Given the description of an element on the screen output the (x, y) to click on. 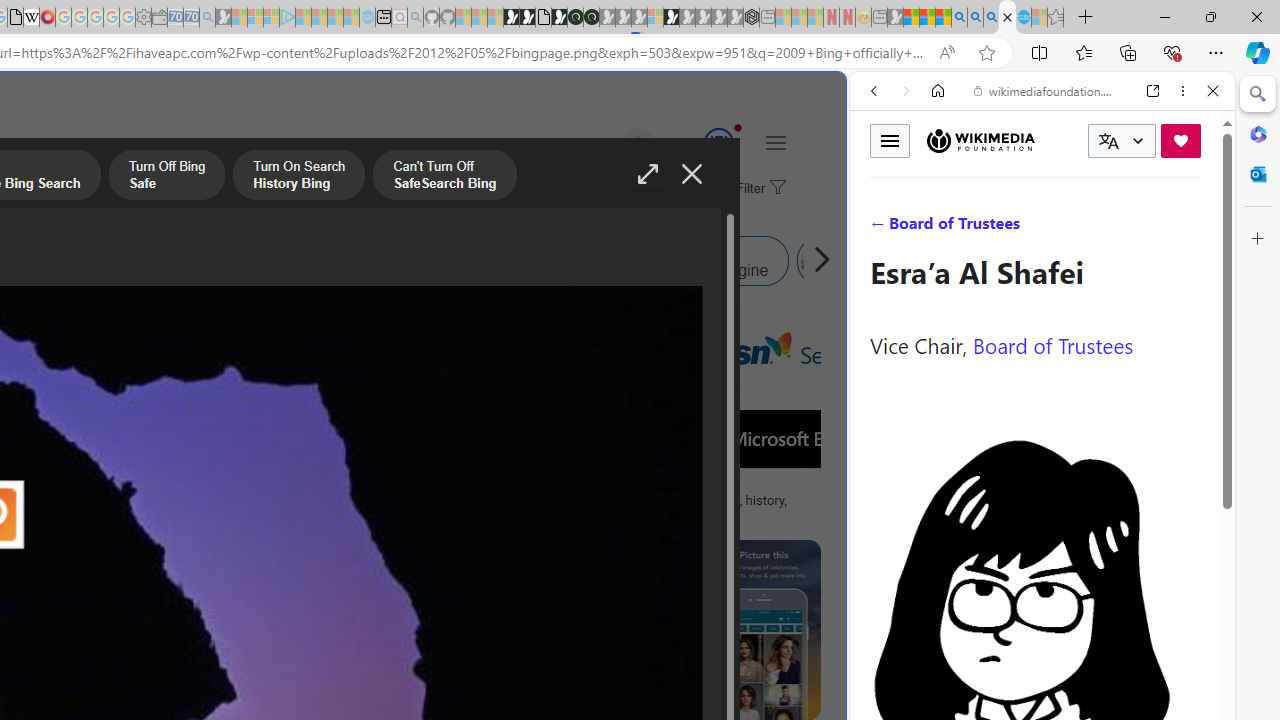
Play Zoo Boom in your browser | Games from Microsoft Start (527, 17)
Owner of Bing Search Engine (680, 260)
